Given the description of an element on the screen output the (x, y) to click on. 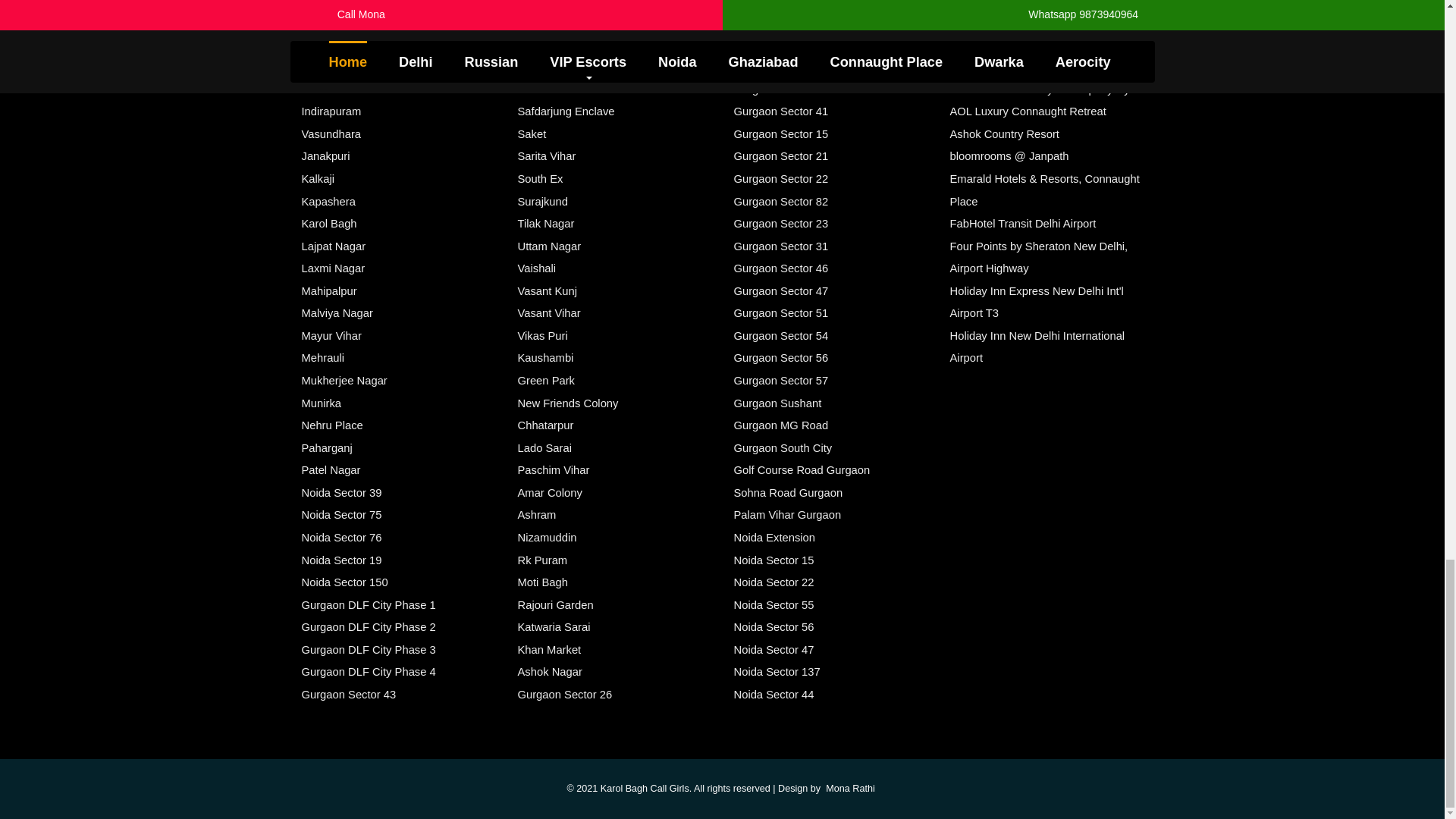
Laxmi Nagar (333, 268)
Govindpuri (328, 44)
Karol Bagh (328, 223)
Mahipalpur (328, 291)
Greater Kailash (340, 66)
Kapashera (328, 201)
Lajpat Nagar (333, 246)
Mayur Vihar (331, 336)
Janakpuri (325, 155)
Kalkaji (317, 178)
